Given the description of an element on the screen output the (x, y) to click on. 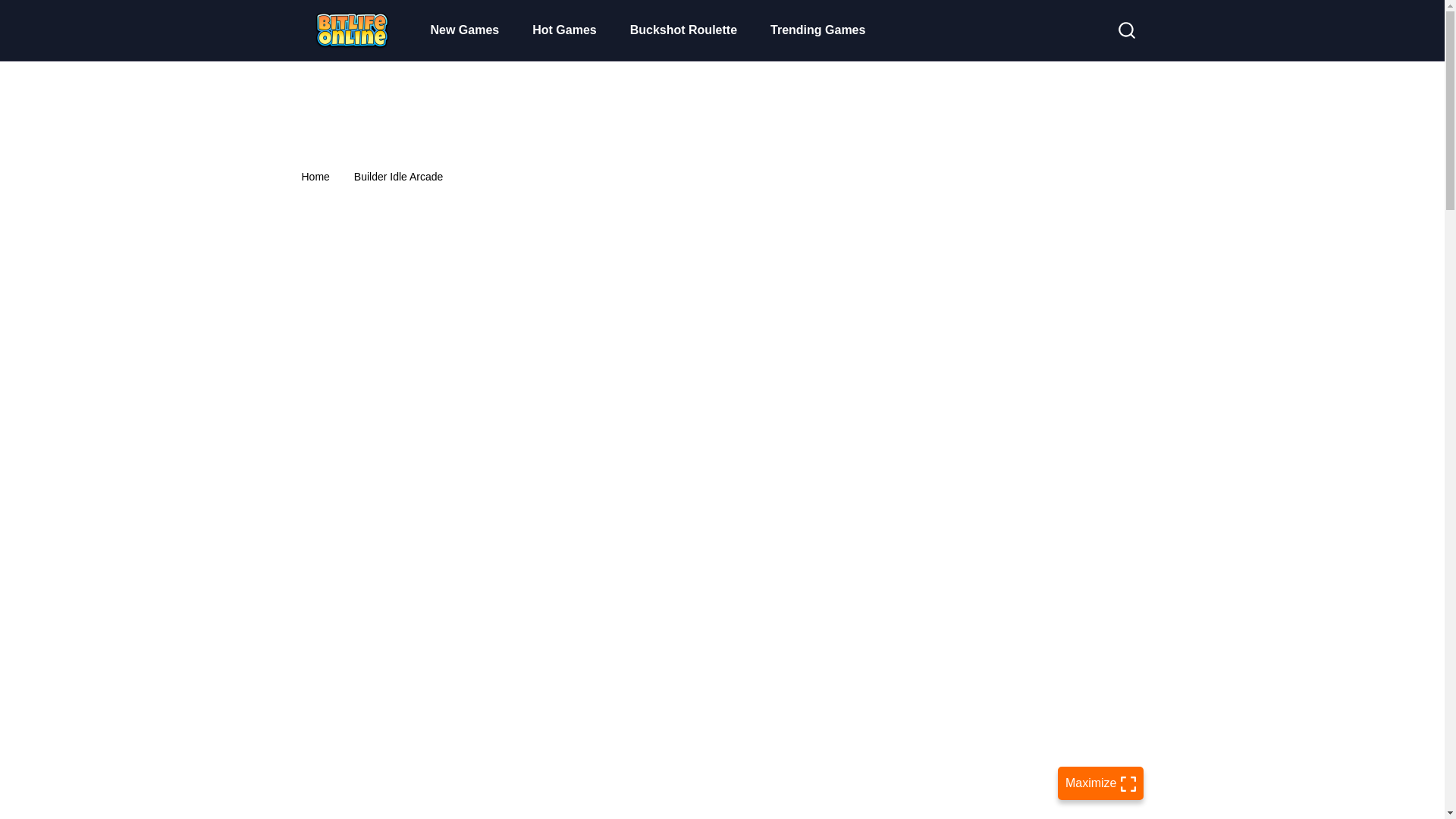
Trending Games (817, 30)
Buckshot Roulette (683, 30)
Hot Games (563, 30)
New Games (464, 30)
Home (315, 176)
Hot Games (563, 30)
Home (315, 176)
Play in fullscreen (1100, 783)
Buckshot Roulette (683, 30)
Trending Games (817, 30)
New Games (464, 30)
Bitlife (350, 30)
